Given the description of an element on the screen output the (x, y) to click on. 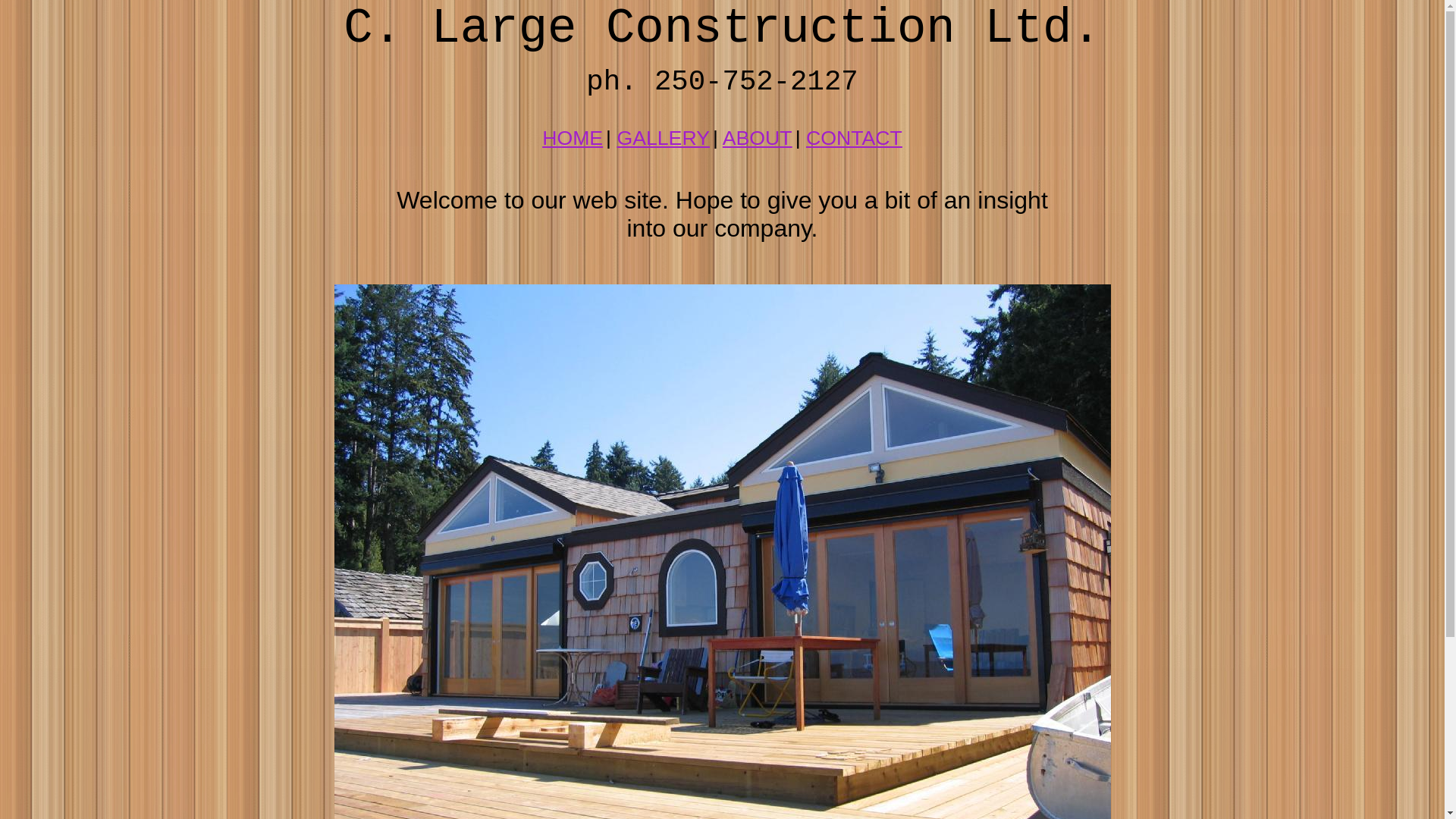
ABOUT Element type: text (757, 137)
CONTACT Element type: text (854, 137)
HOME Element type: text (572, 137)
GALLERY Element type: text (662, 137)
